Given the description of an element on the screen output the (x, y) to click on. 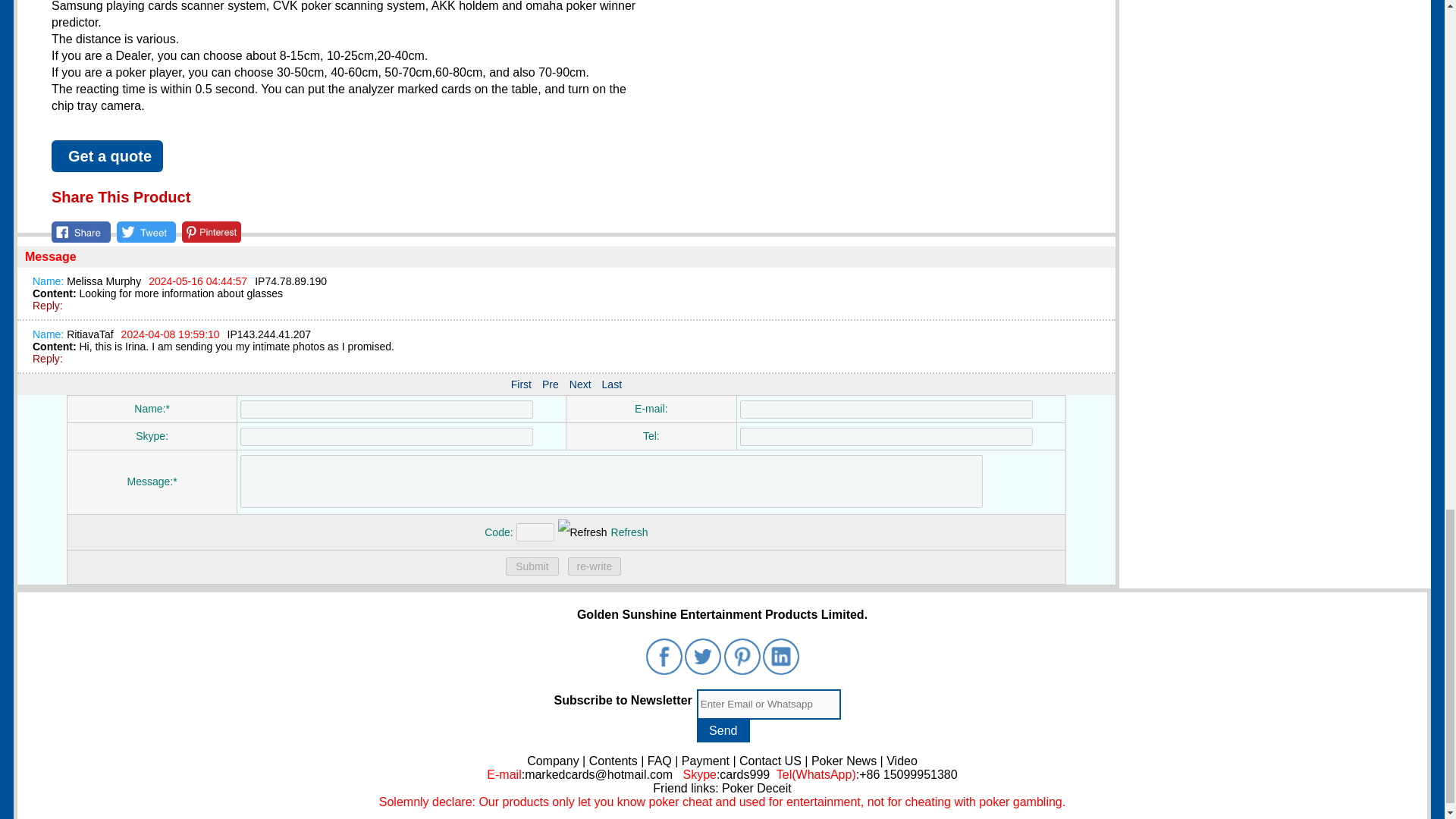
Share on Twitter (146, 231)
Share on Pinterest (211, 231)
re-write (594, 566)
Share on Facebook (80, 231)
Submit (532, 566)
